Given the description of an element on the screen output the (x, y) to click on. 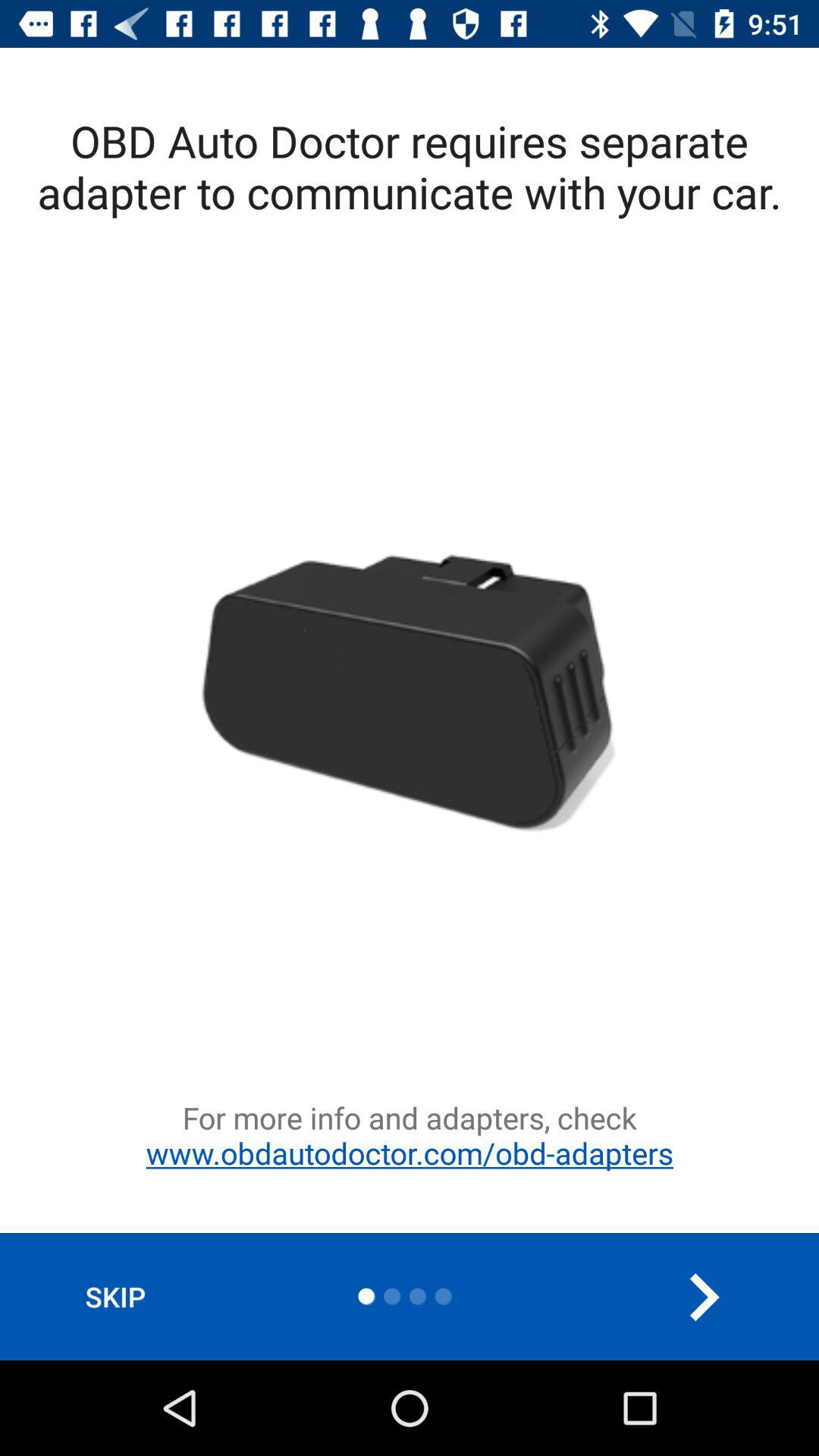
choose the for more info (409, 1165)
